Given the description of an element on the screen output the (x, y) to click on. 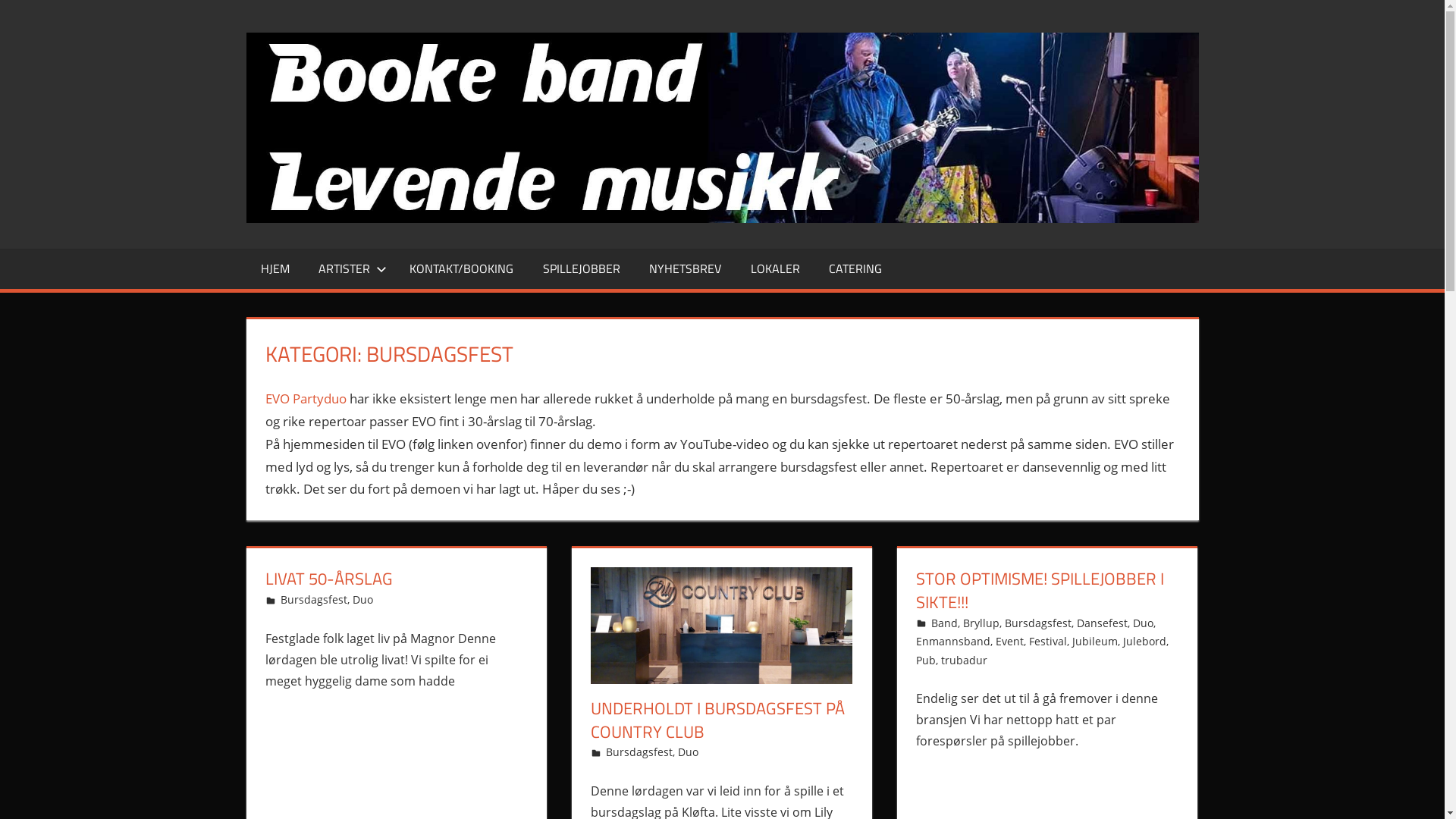
Duo Element type: text (687, 751)
Duo Element type: text (362, 599)
Band Element type: text (944, 622)
Bryllup Element type: text (981, 622)
NYHETSBREV Element type: text (684, 268)
Bursdagsfest Element type: text (1037, 622)
6. februar 2022 Element type: text (644, 751)
27. april 2022 Element type: text (314, 599)
CATERING Element type: text (855, 268)
Dansefest Element type: text (1101, 622)
Event Element type: text (1009, 640)
LOKALER Element type: text (774, 268)
Pub Element type: text (925, 659)
trubadur Element type: text (964, 659)
SPILLEJOBBER Element type: text (581, 268)
EVO Partyduo Element type: text (305, 398)
11. mai 2021 Element type: text (963, 622)
Festival Element type: text (1047, 640)
HJEM Element type: text (274, 268)
post@booke.band Element type: text (651, 751)
Bursdagsfest Element type: text (313, 599)
KONTAKT/BOOKING Element type: text (461, 268)
STOR OPTIMISME! SPILLEJOBBER I SIKTE!!! Element type: text (1040, 590)
post@booke.band Element type: text (976, 622)
Duo Element type: text (1142, 622)
post@booke.band Element type: text (326, 599)
Jubileum Element type: text (1094, 640)
Bursdagsfest Element type: text (638, 751)
Julebord Element type: text (1144, 640)
Enmannsband Element type: text (953, 640)
ARTISTER Element type: text (349, 268)
